Given the description of an element on the screen output the (x, y) to click on. 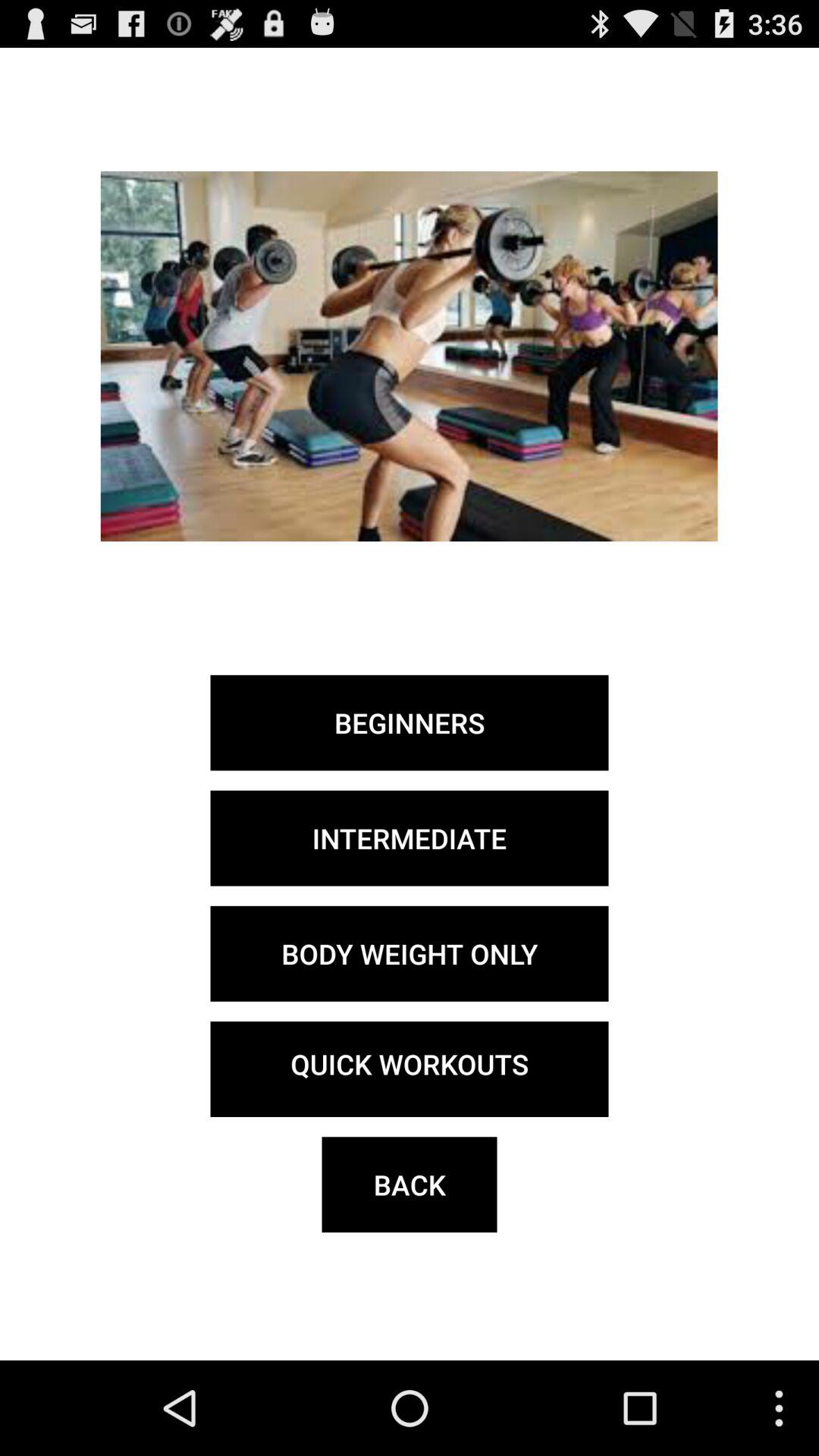
tap icon above the body weight only button (409, 838)
